Given the description of an element on the screen output the (x, y) to click on. 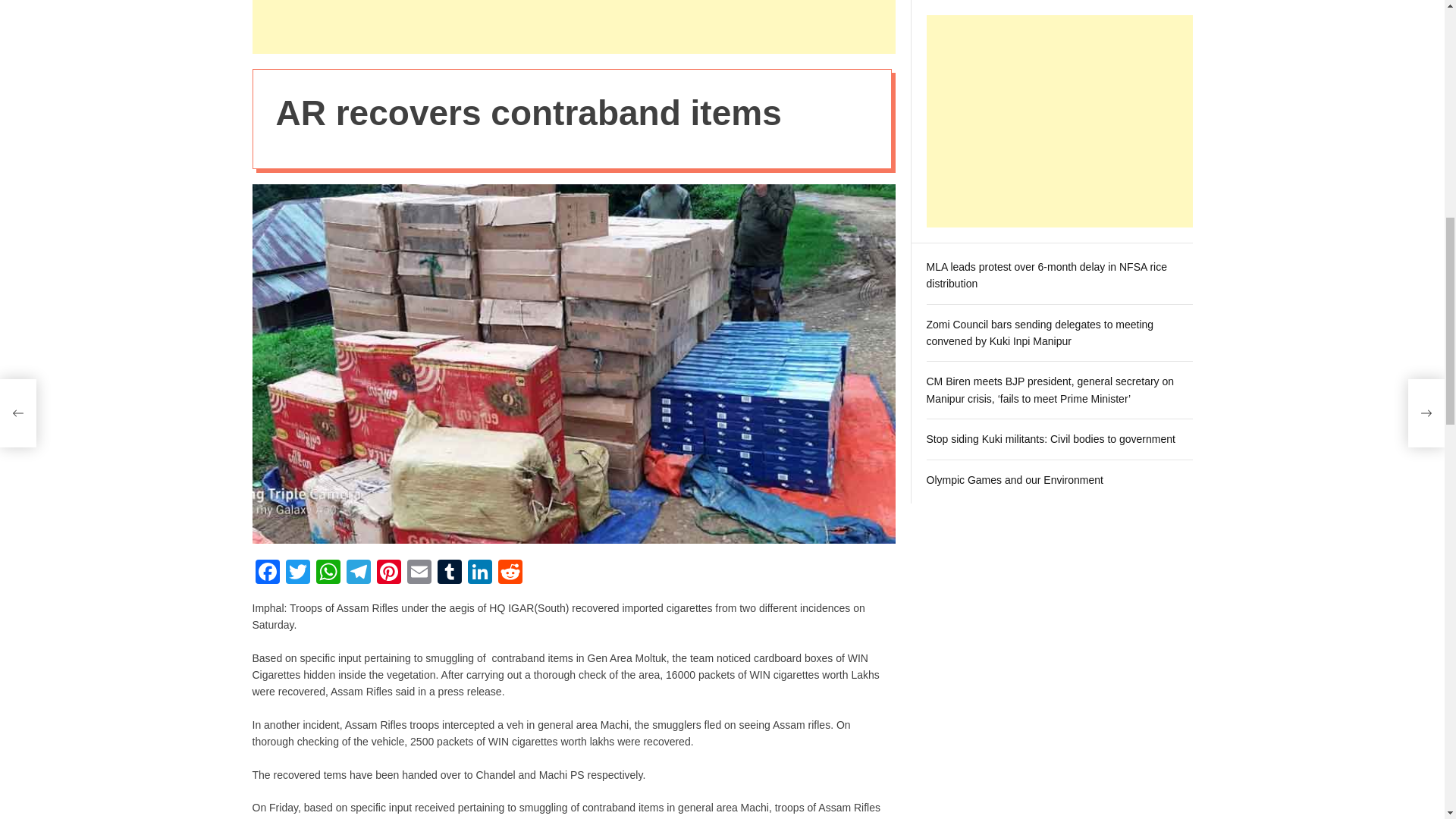
Telegram (357, 573)
Twitter (297, 573)
LinkedIn (479, 573)
Twitter (297, 573)
Telegram (357, 573)
Advertisement (573, 27)
Facebook (266, 573)
WhatsApp (327, 573)
Tumblr (448, 573)
WhatsApp (327, 573)
Stop siding Kuki militants: Civil bodies to government (1050, 259)
Facebook (266, 573)
Email (418, 573)
